Given the description of an element on the screen output the (x, y) to click on. 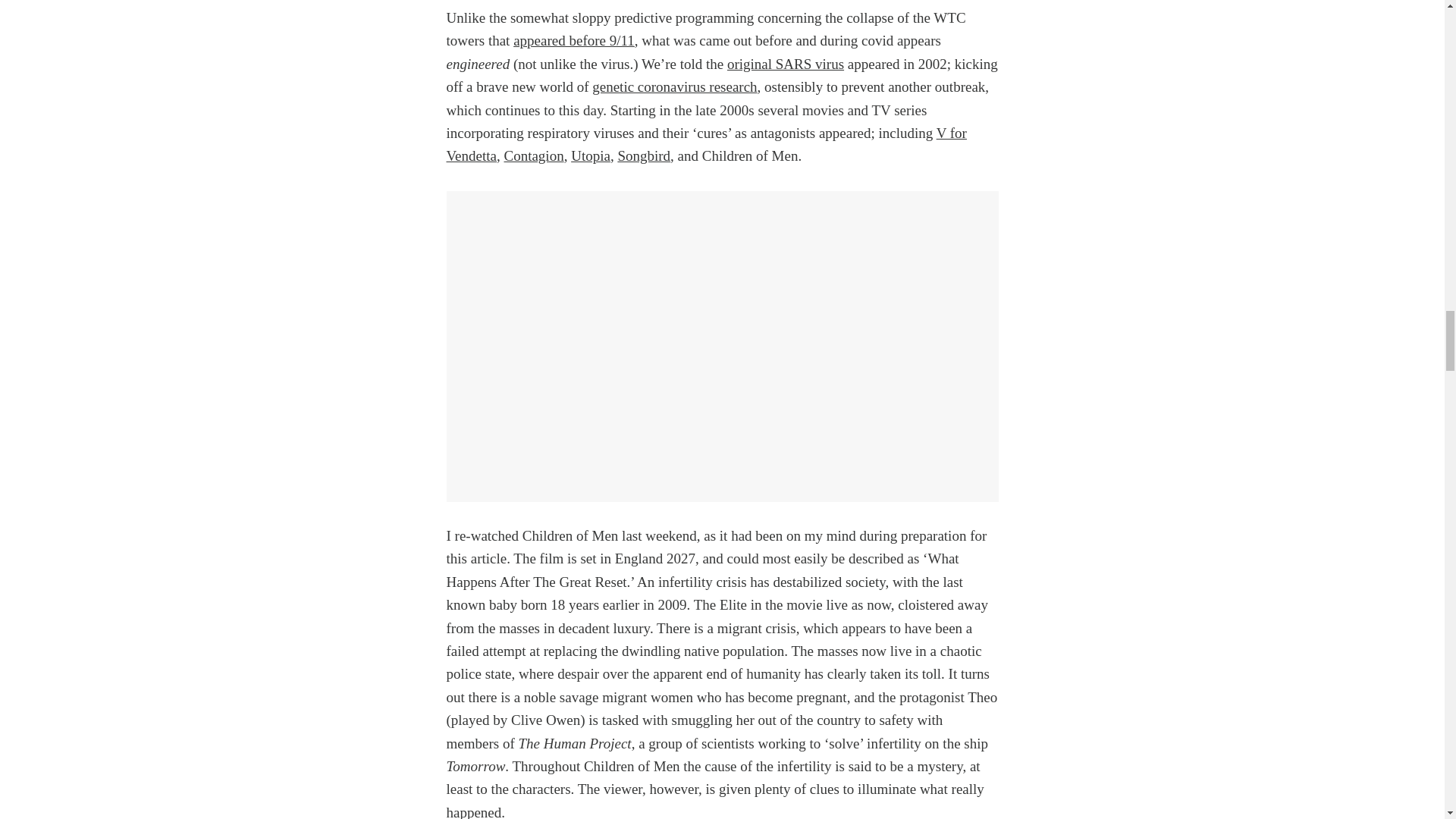
original SARS virus (785, 64)
genetic coronavirus research (674, 86)
V for Vendetta (705, 144)
